Given the description of an element on the screen output the (x, y) to click on. 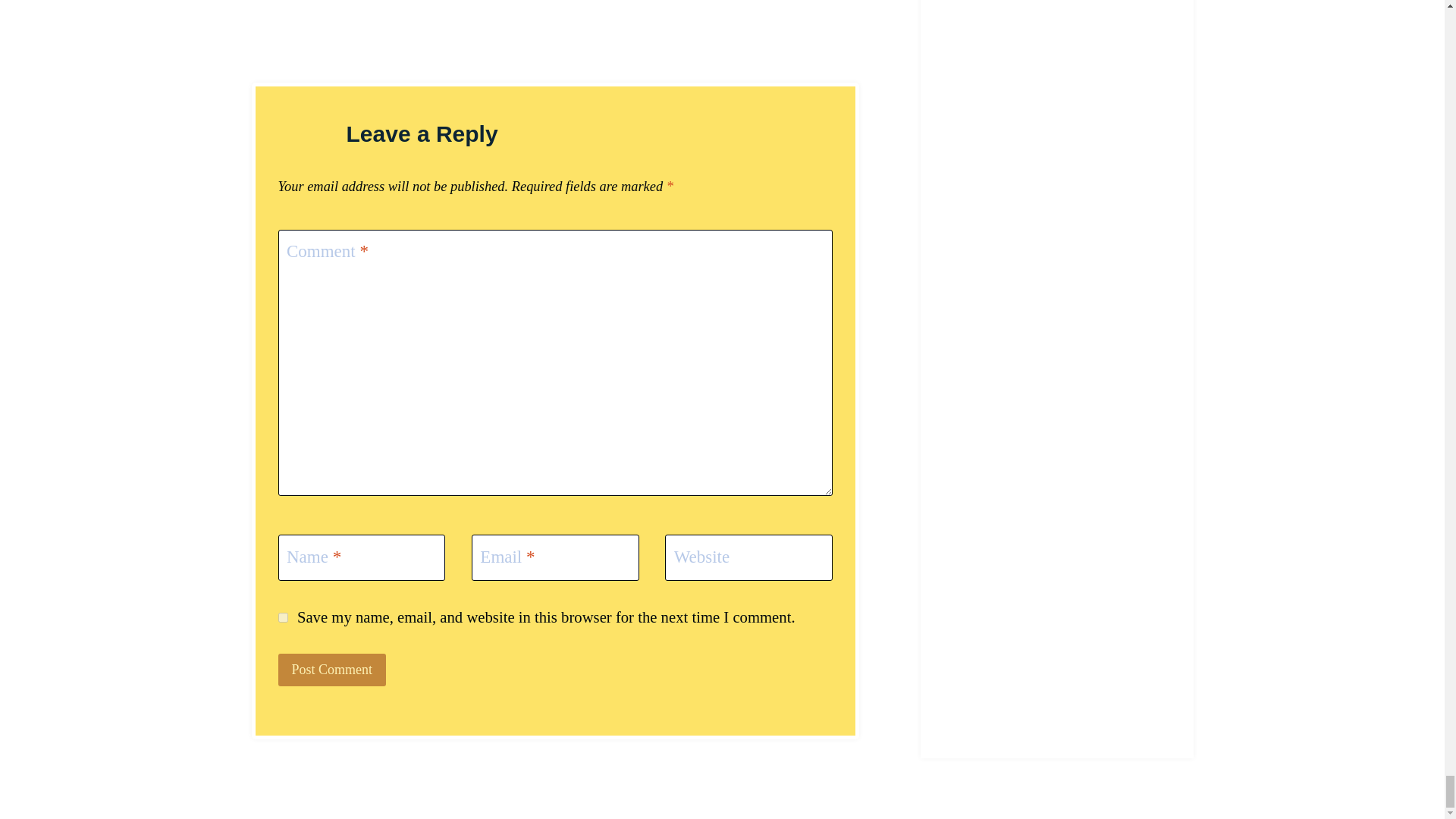
yes (282, 617)
Post Comment (331, 669)
